Given the description of an element on the screen output the (x, y) to click on. 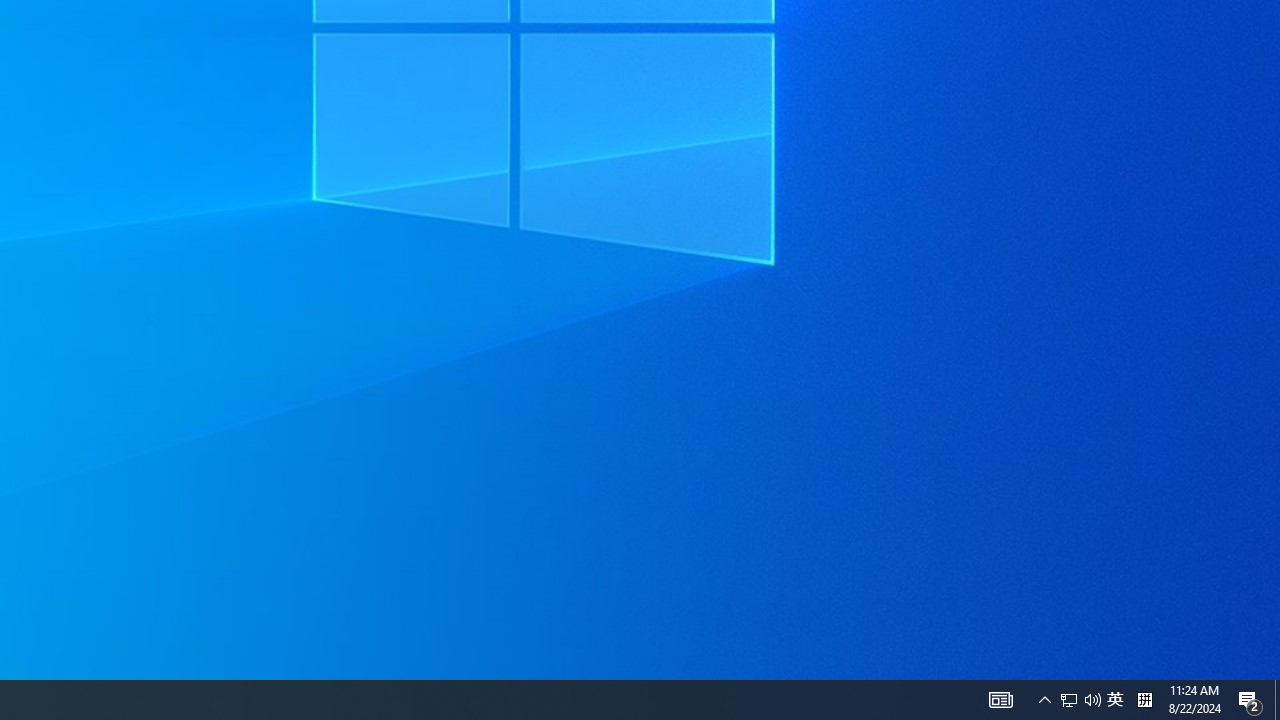
Tray Input Indicator - Chinese (Simplified, China) (1144, 699)
Notification Chevron (1044, 699)
AutomationID: 4105 (1115, 699)
User Promoted Notification Area (1069, 699)
Show desktop (1000, 699)
Q2790: 100% (1080, 699)
Action Center, 2 new notifications (1277, 699)
